Given the description of an element on the screen output the (x, y) to click on. 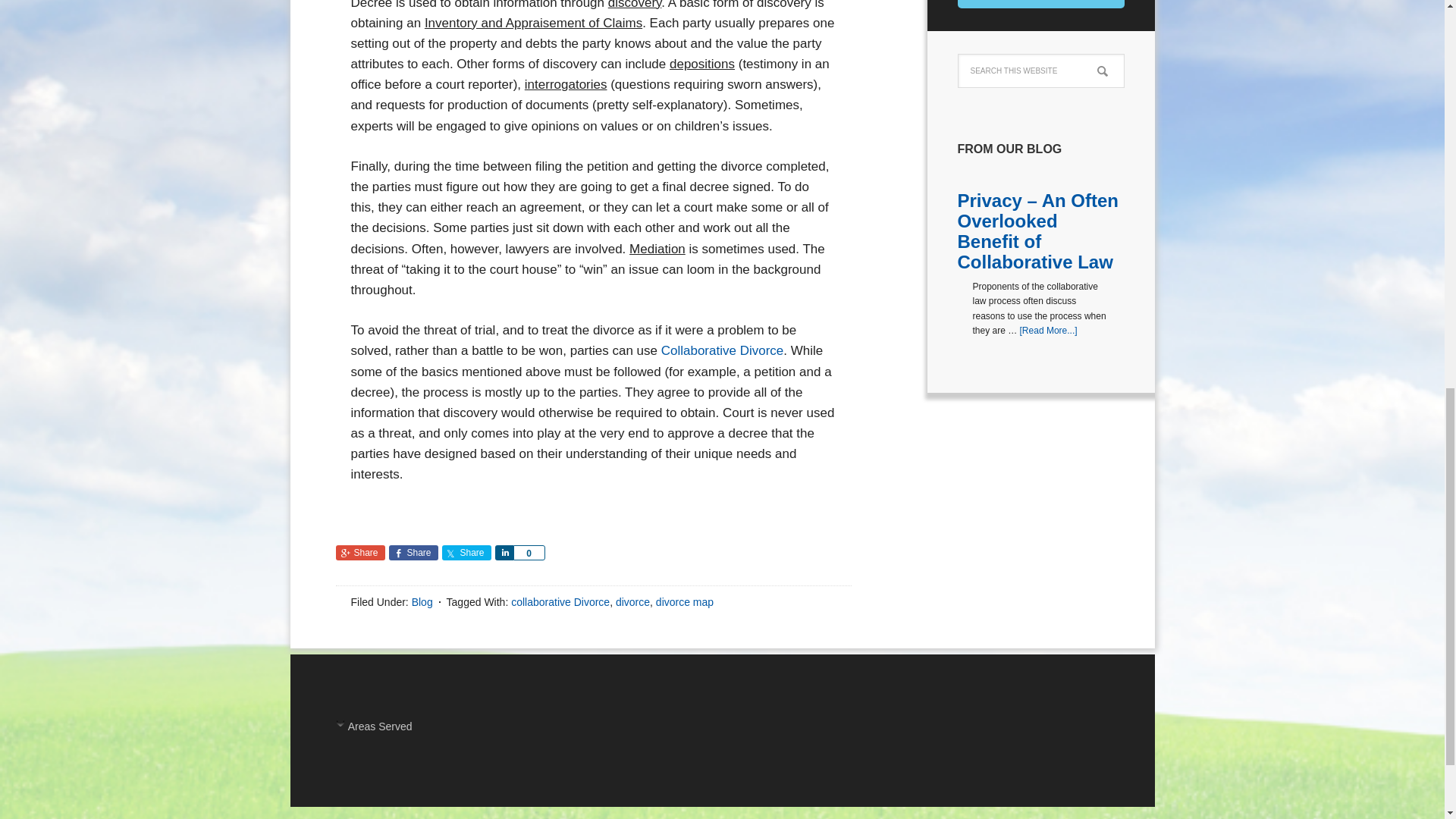
Areas Served (449, 730)
Go (1040, 4)
